Given the description of an element on the screen output the (x, y) to click on. 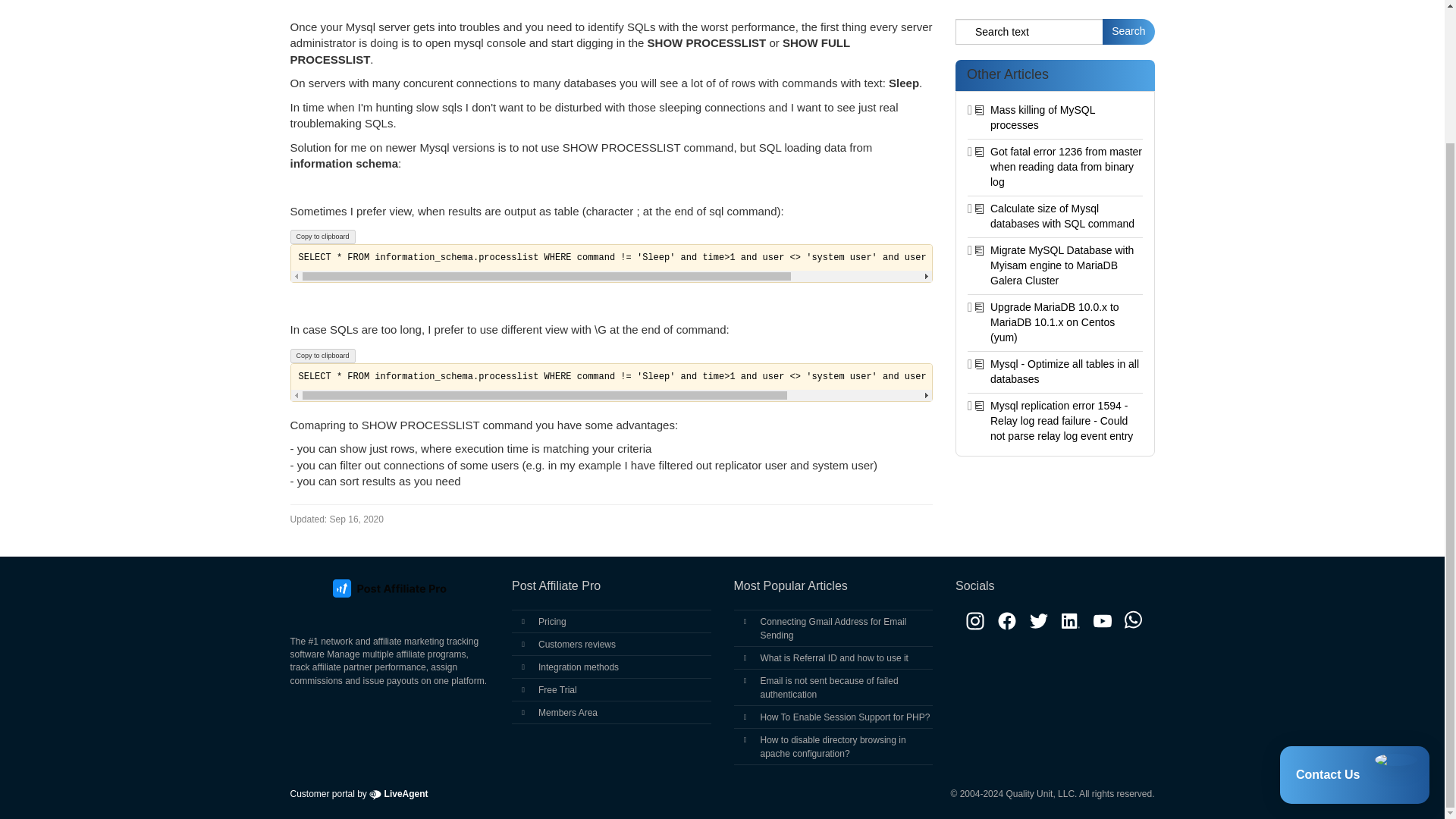
Members Area (567, 712)
Connecting Gmail Address for Email Sending (832, 628)
Customer portal by LiveAgent (358, 793)
Search text (1029, 31)
Search (1128, 31)
Mysql - Optimize all tables in all databases (1064, 370)
